Given the description of an element on the screen output the (x, y) to click on. 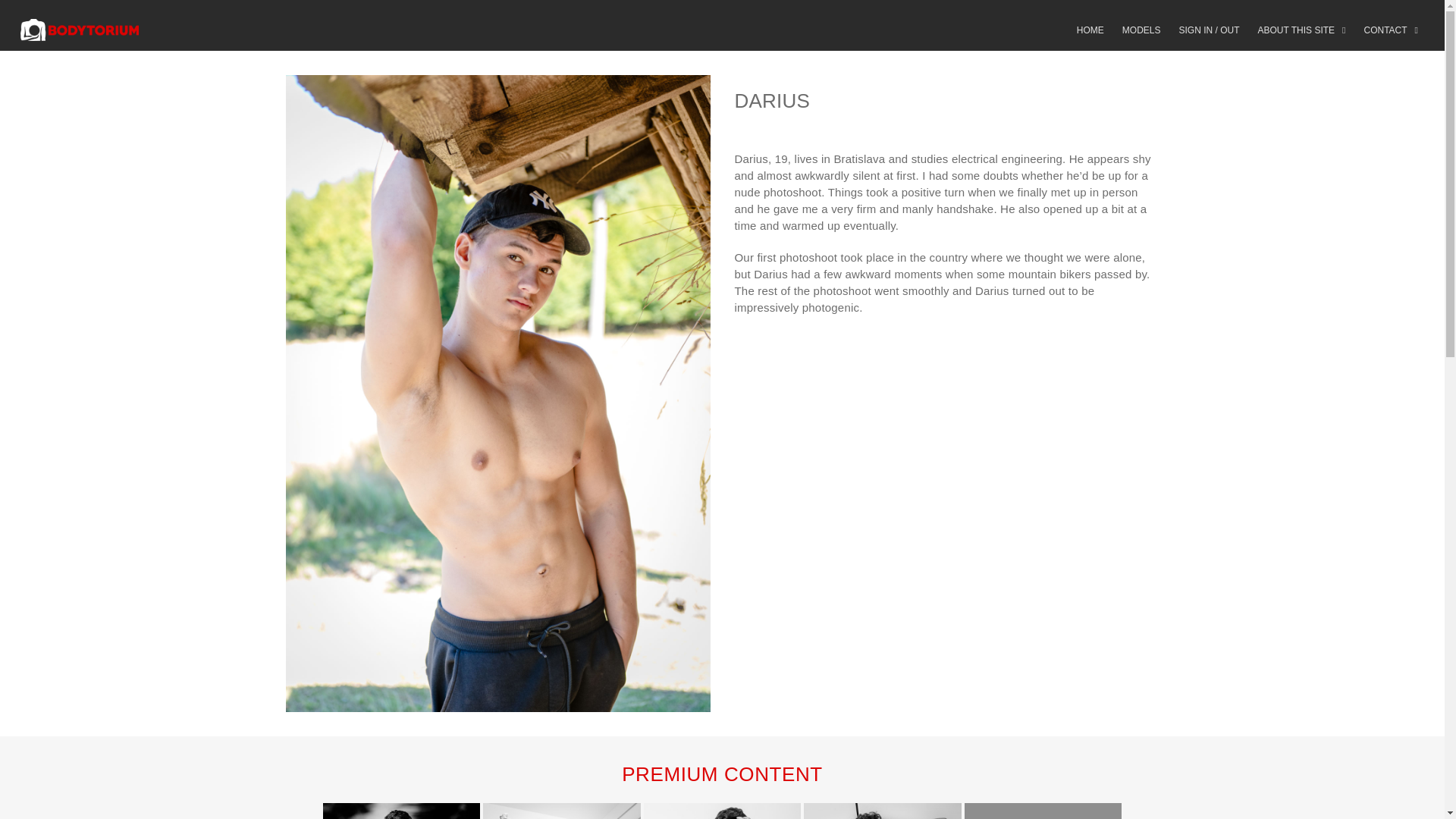
HOME (1090, 29)
CONTACT (1390, 29)
ABOUT THIS SITE (1301, 29)
MODELS (1141, 29)
